Given the description of an element on the screen output the (x, y) to click on. 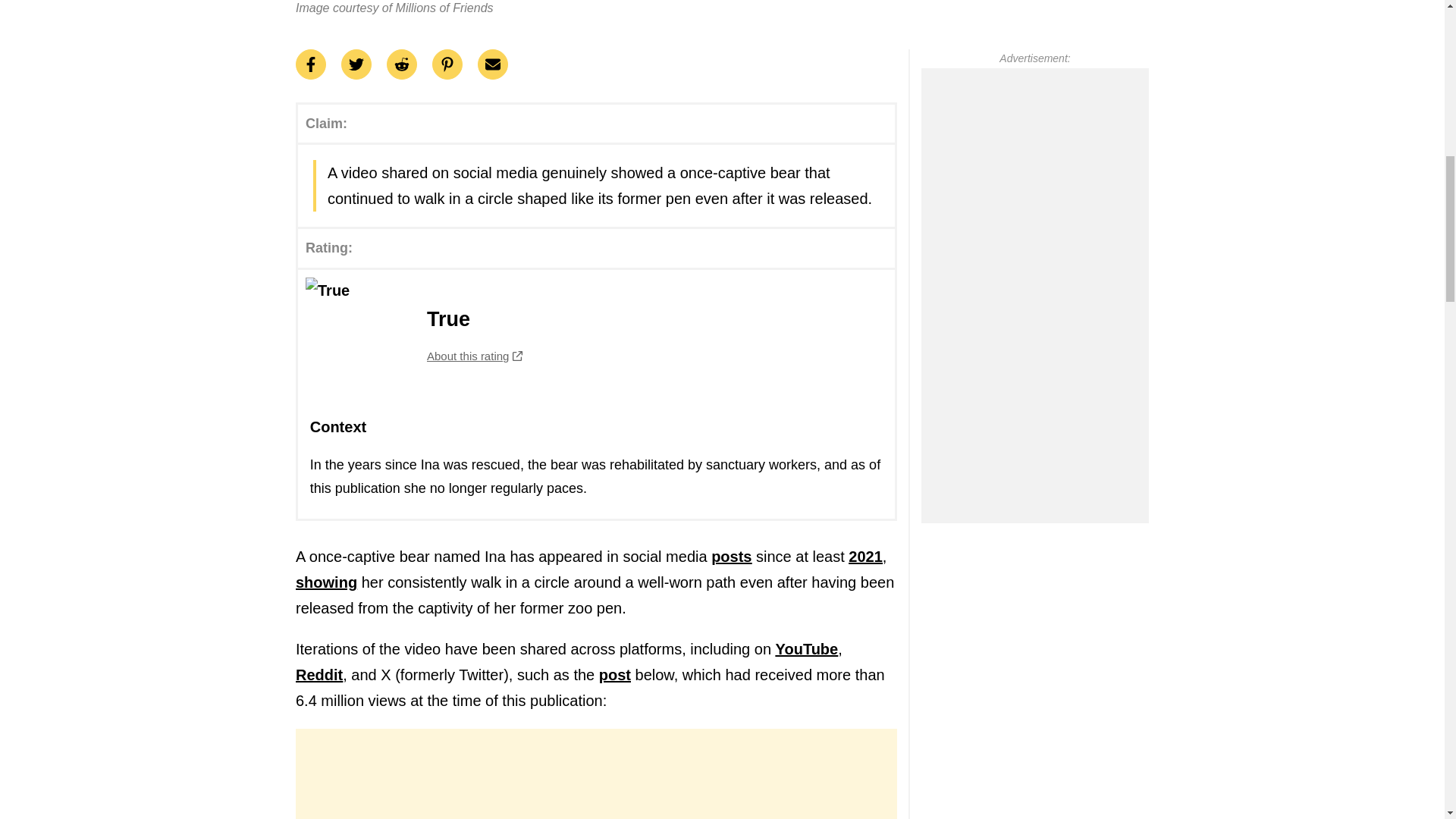
posts (595, 334)
